Given the description of an element on the screen output the (x, y) to click on. 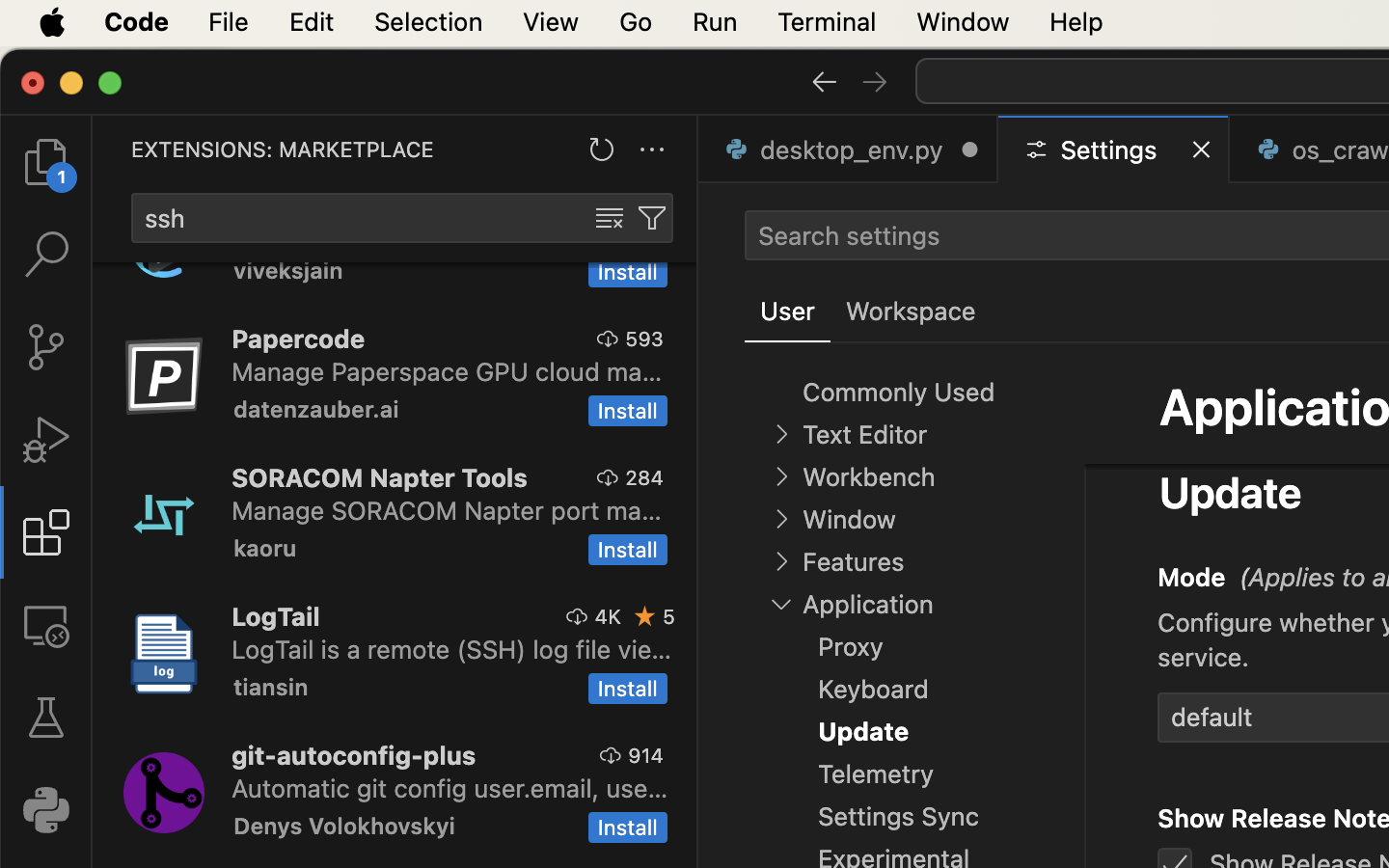
 Element type: AXButton (824, 80)
Keyboard Element type: AXStaticText (1251, 419)
0 desktop_env.py   Element type: AXRadioButton (848, 149)
 Element type: AXGroup (46, 624)
 Element type: AXStaticText (608, 338)
